Given the description of an element on the screen output the (x, y) to click on. 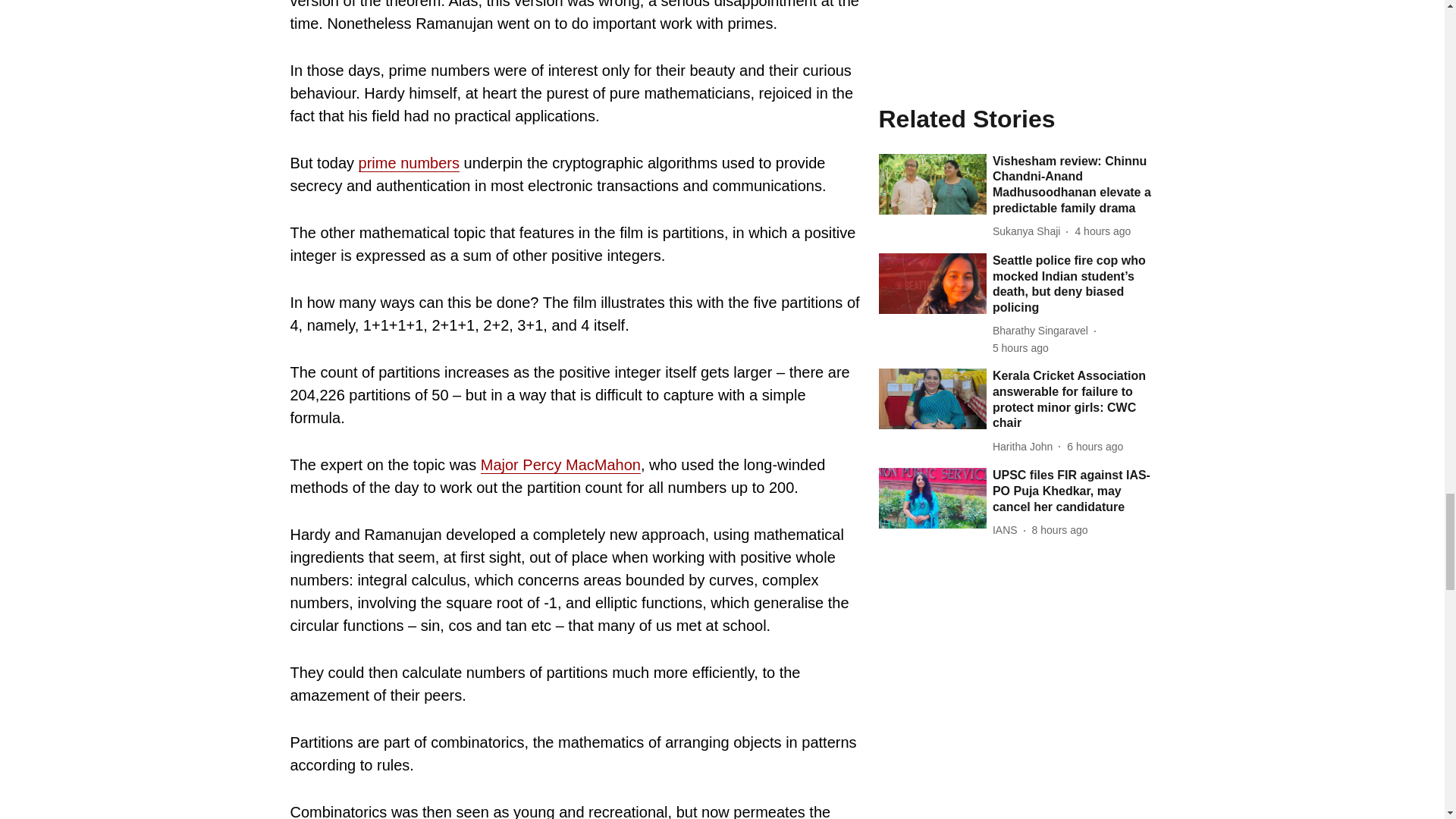
Major Percy MacMahon (560, 465)
prime numbers (409, 162)
